Given the description of an element on the screen output the (x, y) to click on. 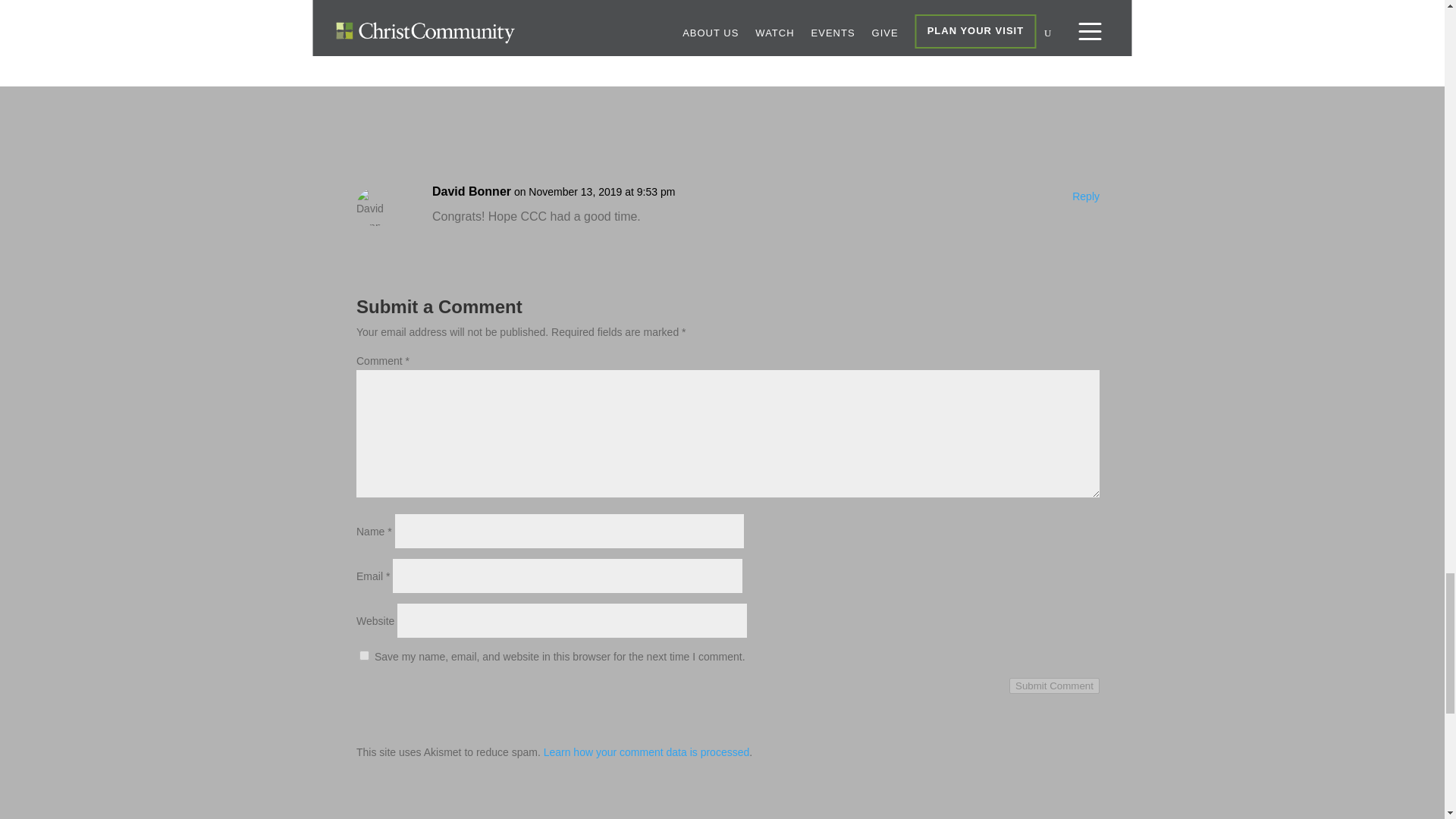
yes (364, 655)
Reply (1085, 197)
Learn how your comment data is processed (646, 752)
David Bonner (471, 191)
Submit Comment (1054, 685)
